Given the description of an element on the screen output the (x, y) to click on. 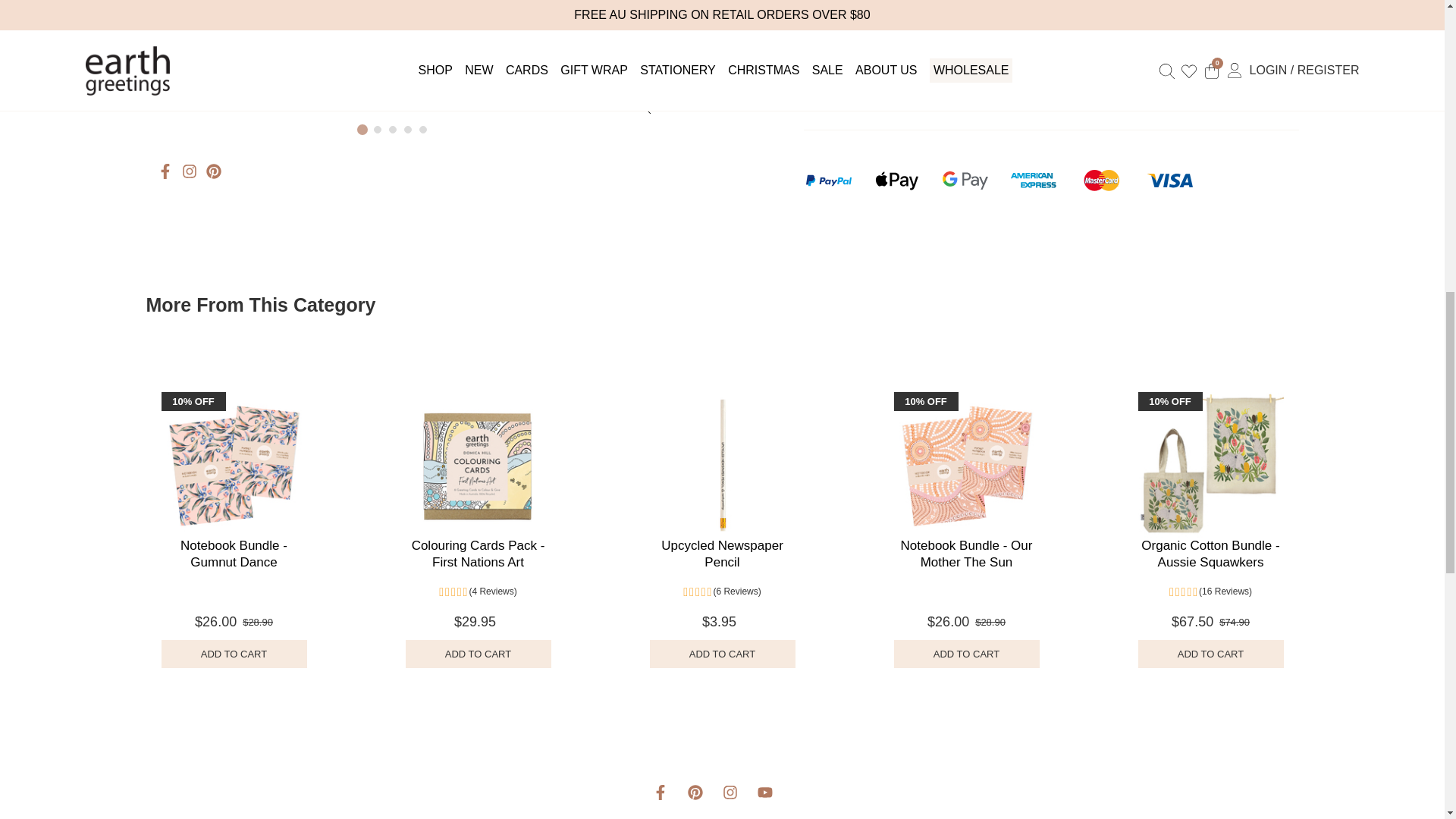
Add Organic Cotton Bundle - Aussie Squawkers to Cart (1209, 653)
Add Upcycled Newspaper Pencil to Cart (721, 653)
5 Stars - 4 Reviews (477, 592)
Add Colouring Cards Pack - First Nations Art to Cart (477, 653)
Add Notebook Bundle - Gumnut Dance to Cart (232, 653)
Add Notebook Bundle - Our Mother The Sun to Cart (966, 653)
5 Stars - 6 Reviews (721, 592)
4.88 Stars - 16 Reviews (1209, 592)
